Given the description of an element on the screen output the (x, y) to click on. 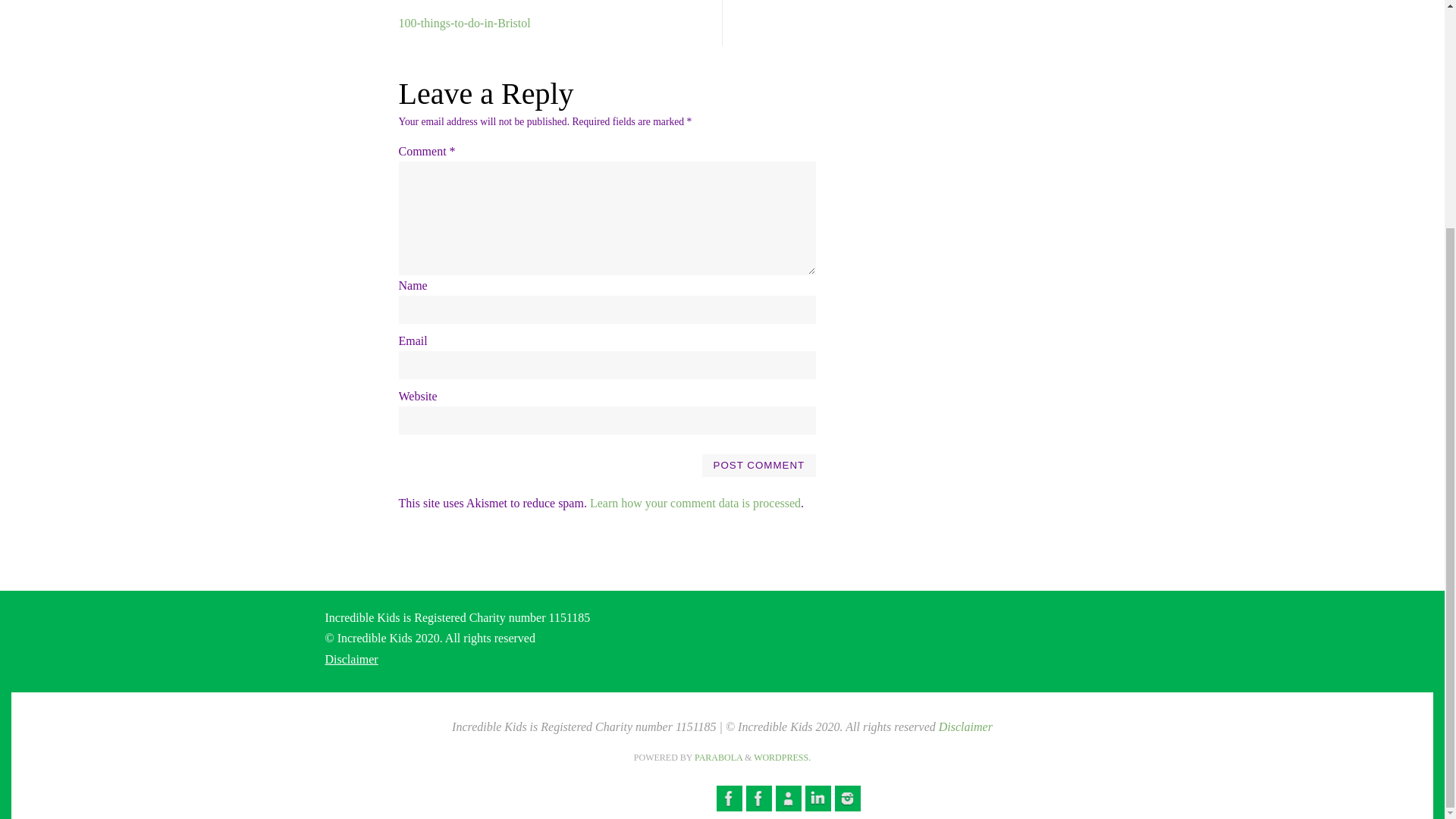
Learn how your comment data is processed (694, 502)
Post Comment (758, 465)
Post Comment (758, 465)
100-things-to-do-in-Bristol (542, 22)
